Given the description of an element on the screen output the (x, y) to click on. 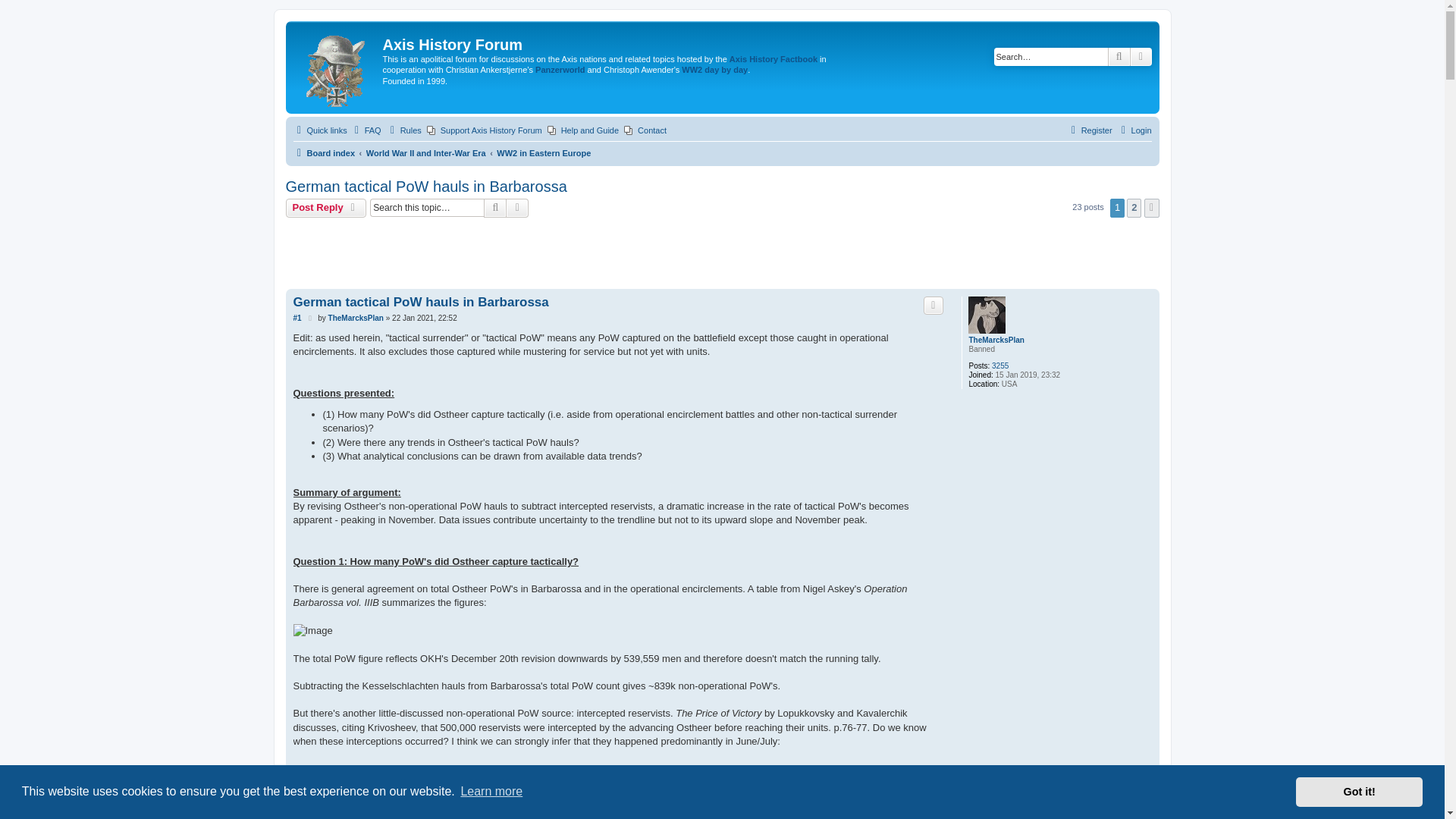
Search (494, 208)
Support Axis History Forum (483, 130)
Post a reply (325, 208)
Rules (404, 130)
WW2 in Eastern Europe (543, 153)
Frequently Asked Questions (365, 130)
Post (310, 317)
Contact (645, 130)
Help and Guide (582, 130)
Board index (335, 67)
Search (1119, 56)
World War II and Inter-War Era (426, 153)
Login (1134, 130)
Advanced search (517, 208)
Support Axis History Forum (483, 130)
